Given the description of an element on the screen output the (x, y) to click on. 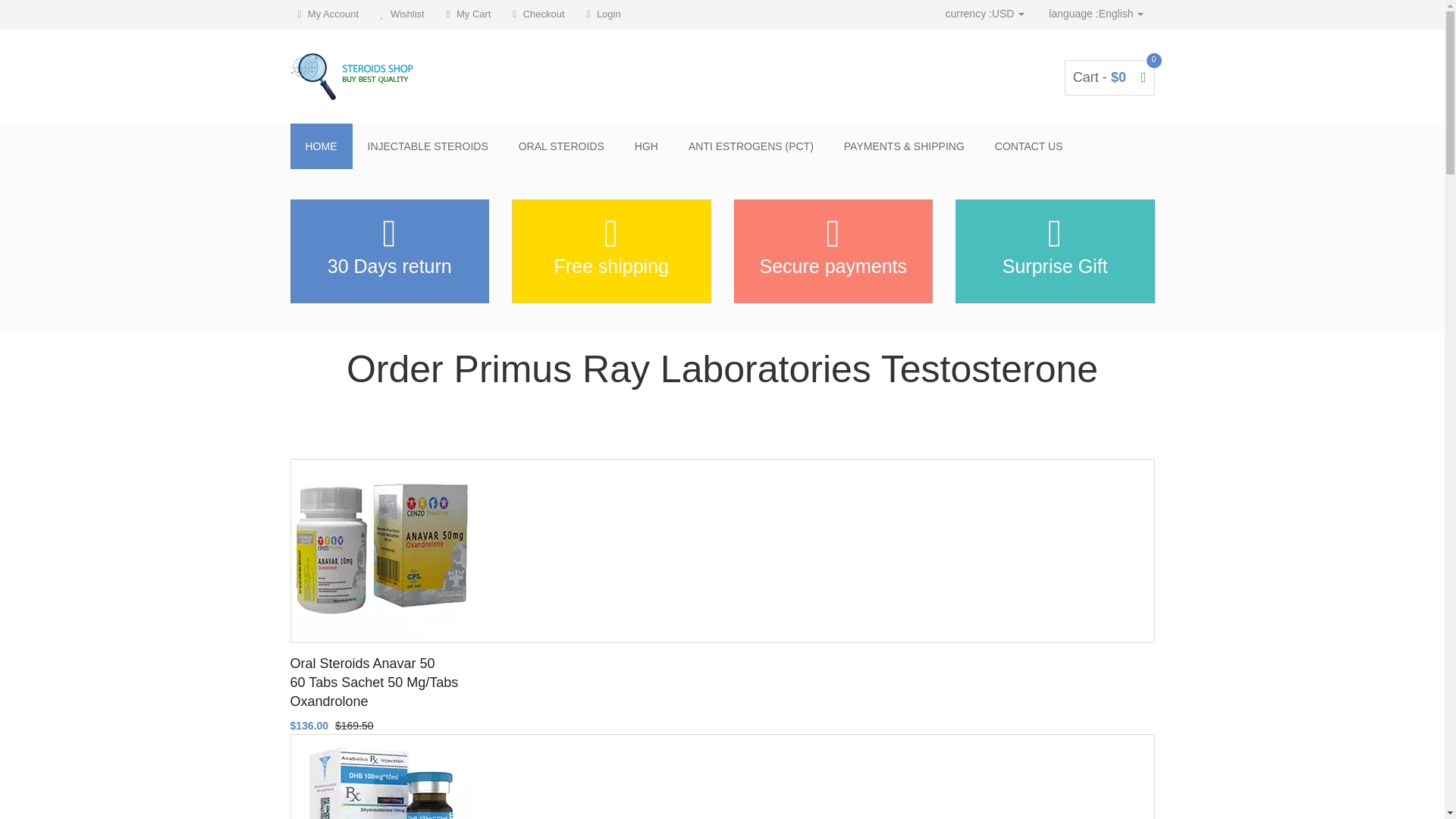
INJECTABLE STEROIDS (427, 145)
ORAL STEROIDS (561, 145)
Checkout (538, 14)
HOME (320, 145)
My Account (327, 14)
My Cart (469, 14)
language :English (1096, 14)
currency :USD (983, 14)
Wishlist (402, 14)
HGH (646, 145)
